Given the description of an element on the screen output the (x, y) to click on. 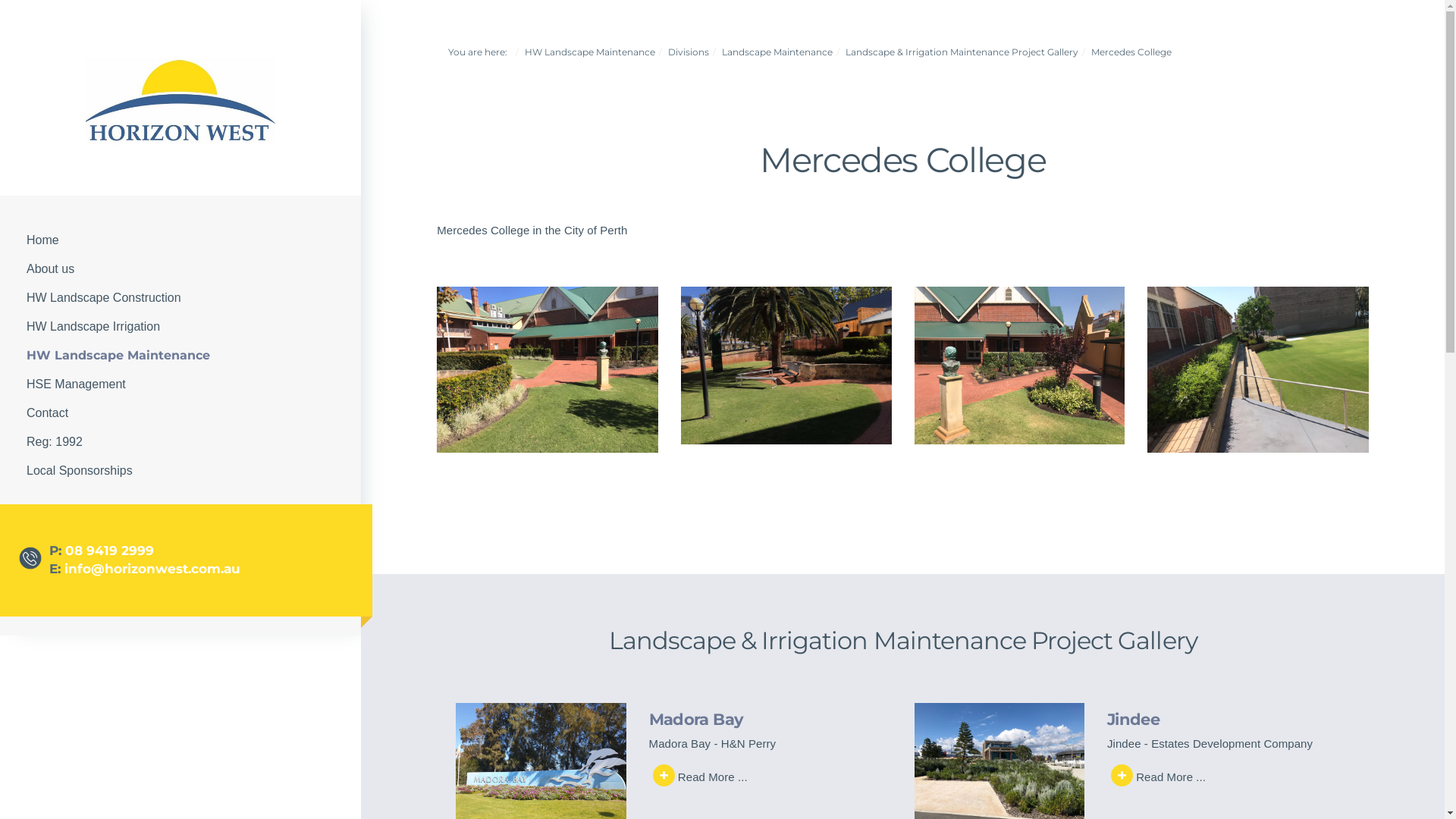
HW Landscape Maintenance Element type: text (589, 51)
Read More ... Element type: text (1160, 775)
Read More ... Element type: text (702, 775)
Home Element type: text (180, 239)
HW Landscape Construction Element type: text (180, 297)
Contact Element type: text (180, 412)
Divisions Element type: text (688, 51)
Local Sponsorships Element type: text (180, 470)
Landscape & Irrigation Maintenance Project Gallery Element type: text (961, 51)
info@horizonwest.com.au Element type: text (152, 568)
HSE Management Element type: text (180, 384)
Landscape Maintenance Element type: text (776, 51)
Reg: 1992 Element type: text (180, 441)
Madora Bay Element type: text (696, 718)
HW Landscape Maintenance Element type: text (180, 355)
Jindee Element type: text (1133, 718)
About us Element type: text (180, 268)
HW Landscape Irrigation Element type: text (180, 326)
